Given the description of an element on the screen output the (x, y) to click on. 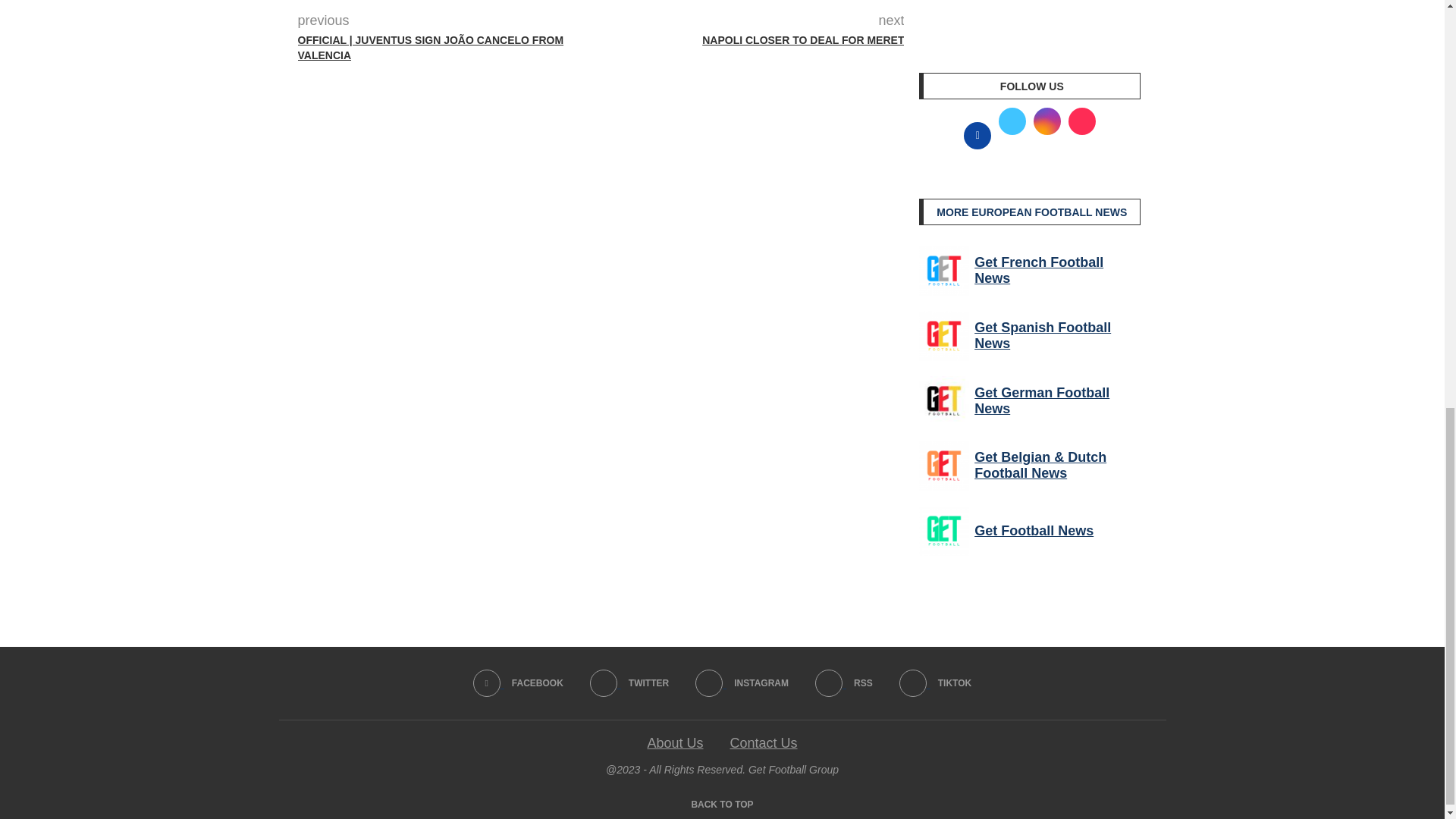
Get Spanish Football News (943, 336)
Get French Football News (943, 270)
Get German Football News (943, 400)
Get Football News (943, 531)
